Given the description of an element on the screen output the (x, y) to click on. 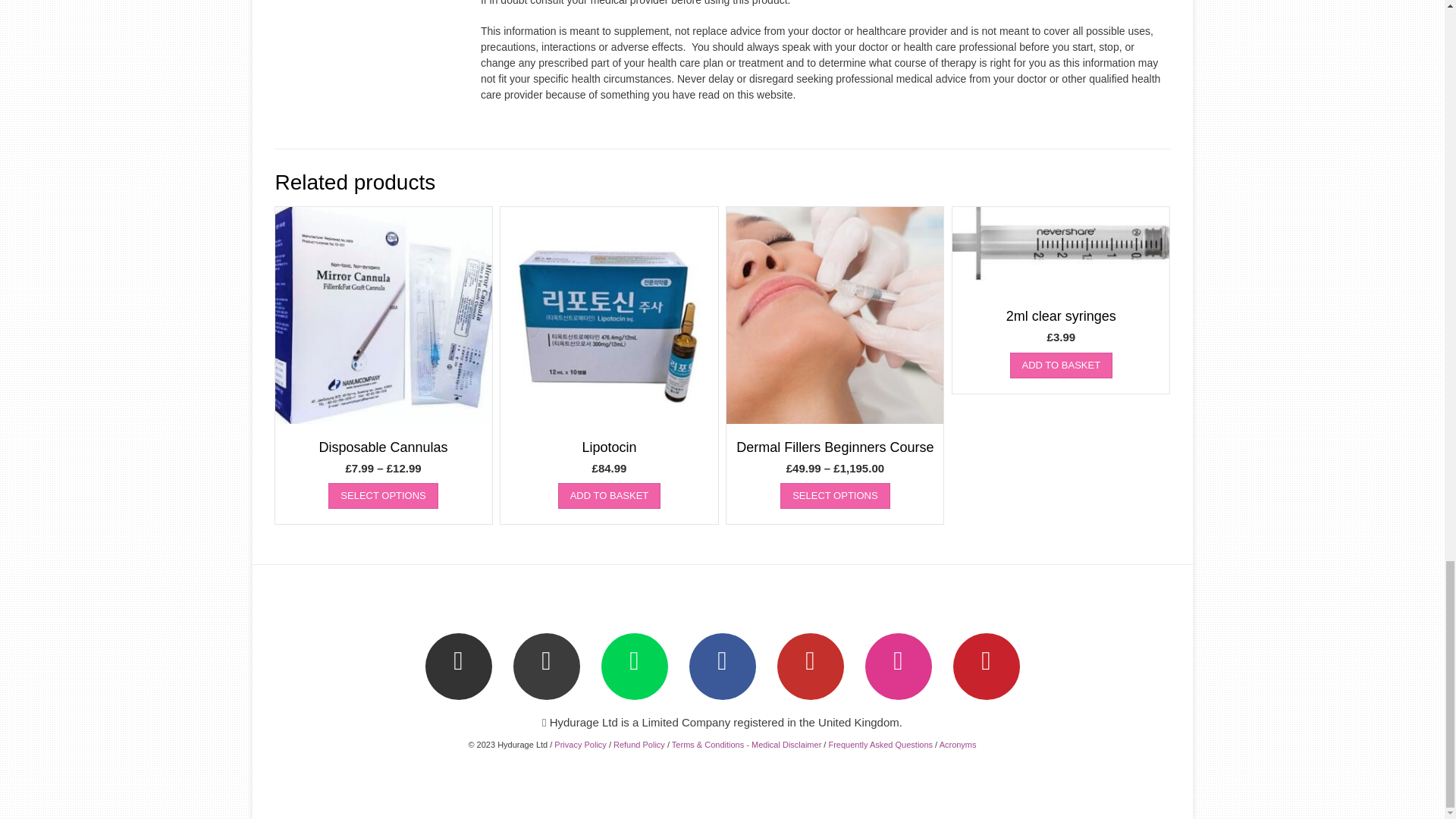
Send Us an Email (458, 666)
Call Us (545, 666)
Contact Us on Whatsapp (632, 666)
Find Us on Facebook (721, 666)
